Given the description of an element on the screen output the (x, y) to click on. 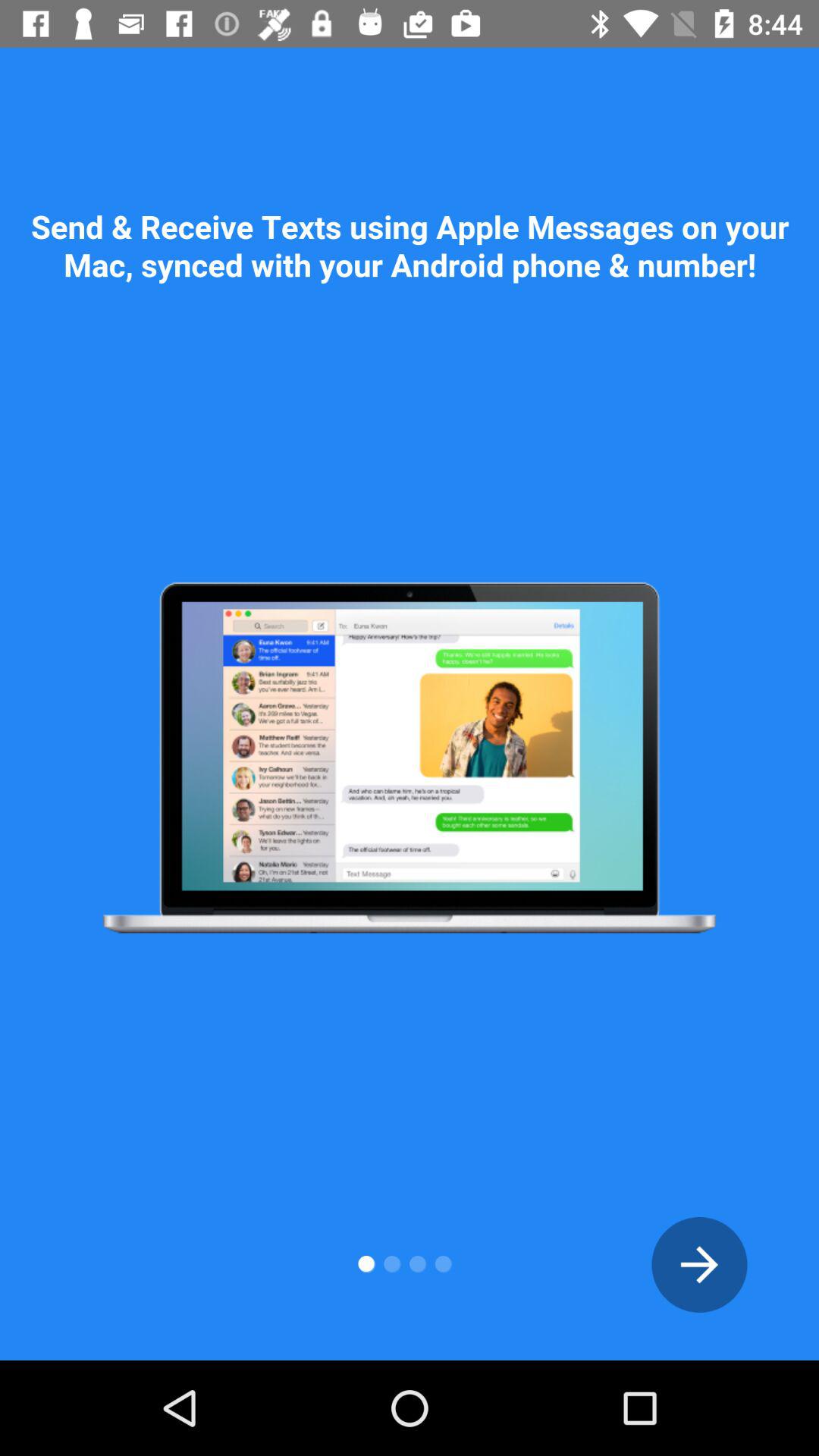
go to next (699, 1264)
